Given the description of an element on the screen output the (x, y) to click on. 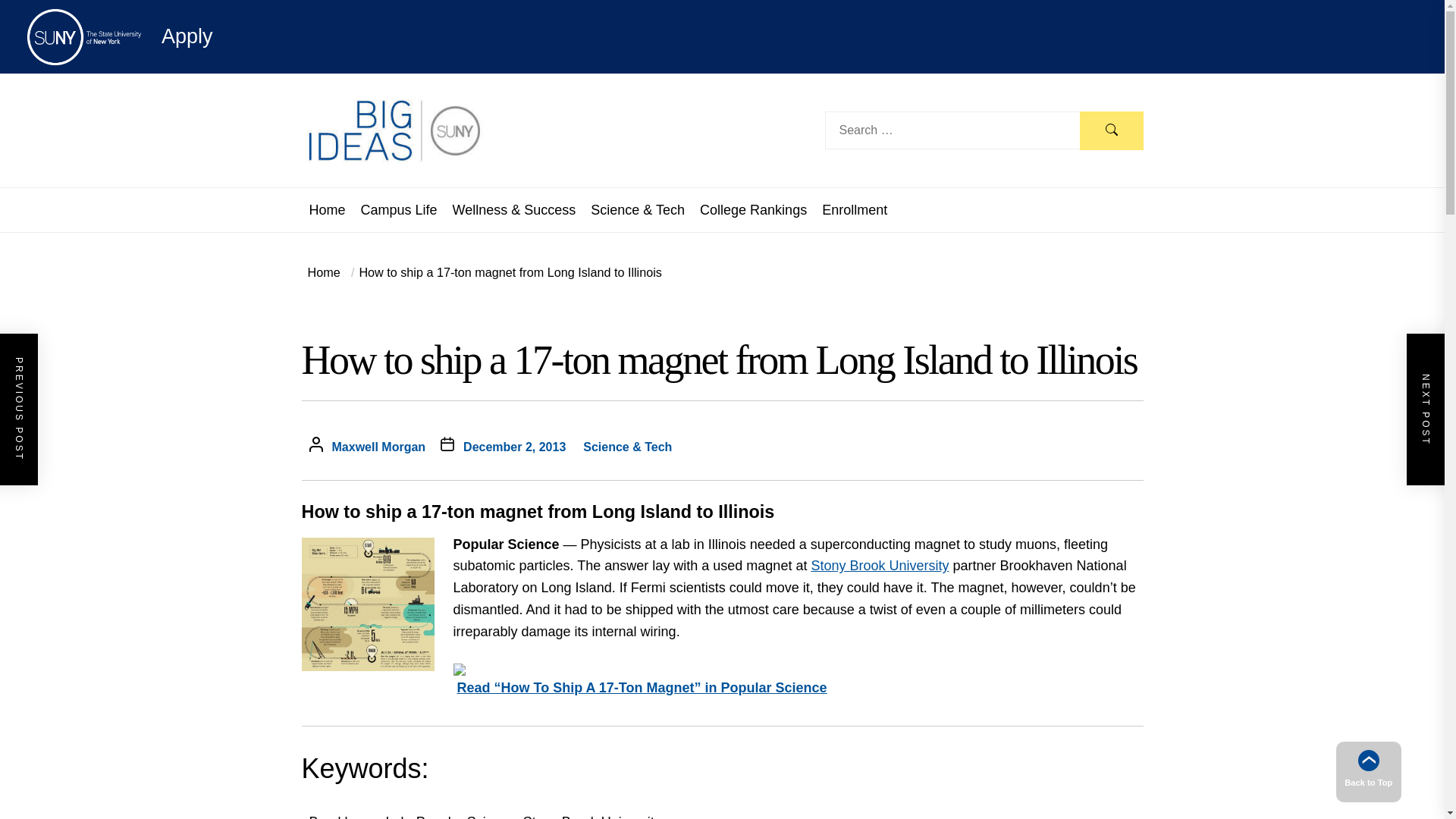
December 2, 2013 (514, 446)
College Rankings (753, 210)
Brookhaven Lab (358, 816)
Popular Science (465, 816)
Stony Brook University (879, 565)
Stony Brook University (591, 816)
How To Ship A 17-Ton Magnet (642, 687)
Enrollment (854, 210)
How to ship a 17-ton magnet from Long Island to Illinois (504, 272)
Home (323, 272)
Home (327, 210)
Maxwell Morgan (378, 446)
Stony Brook University (879, 565)
Apply (120, 36)
